Given the description of an element on the screen output the (x, y) to click on. 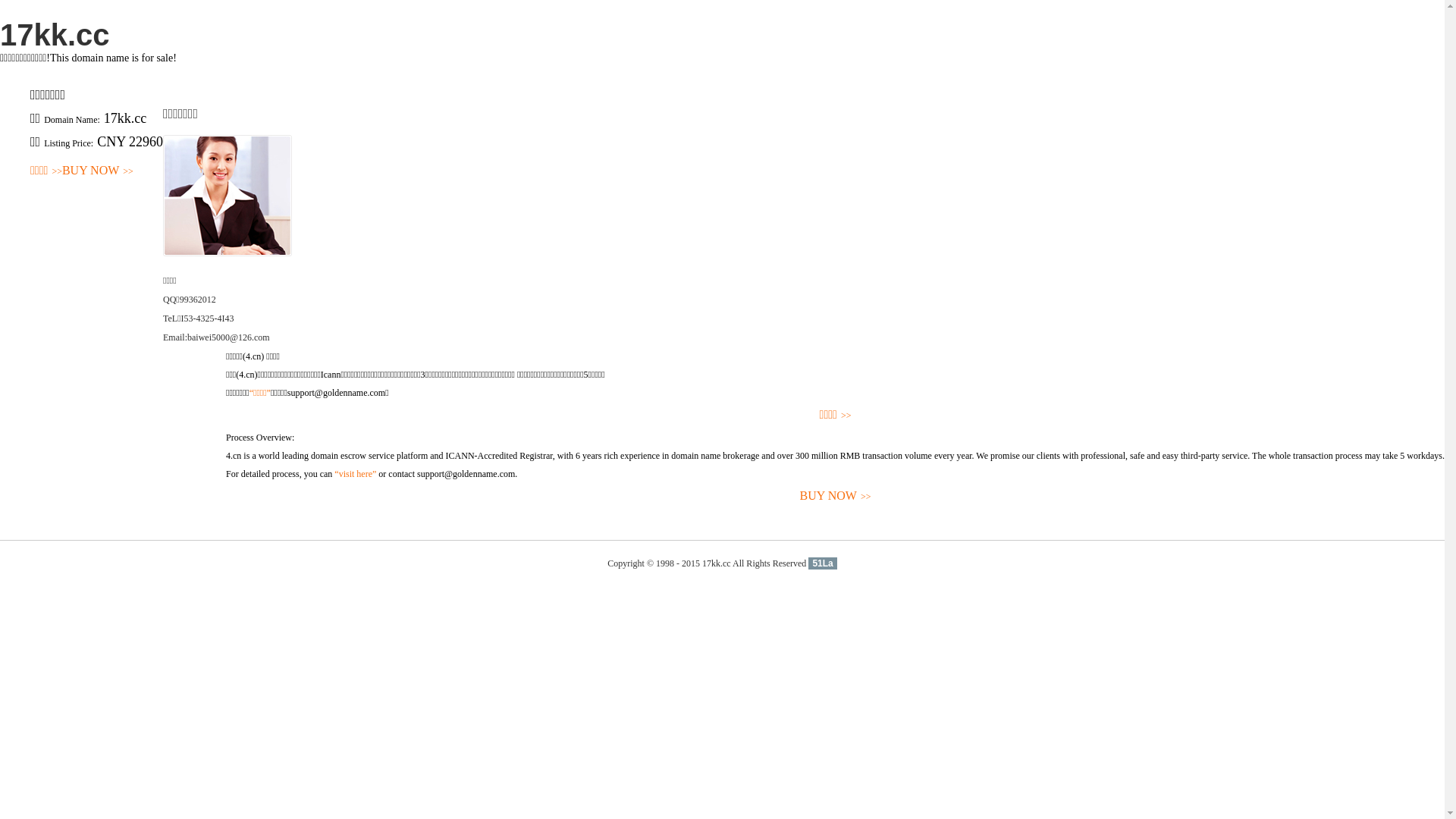
BUY NOW>> Element type: text (97, 170)
51La Element type: text (822, 563)
BUY NOW>> Element type: text (834, 496)
